Given the description of an element on the screen output the (x, y) to click on. 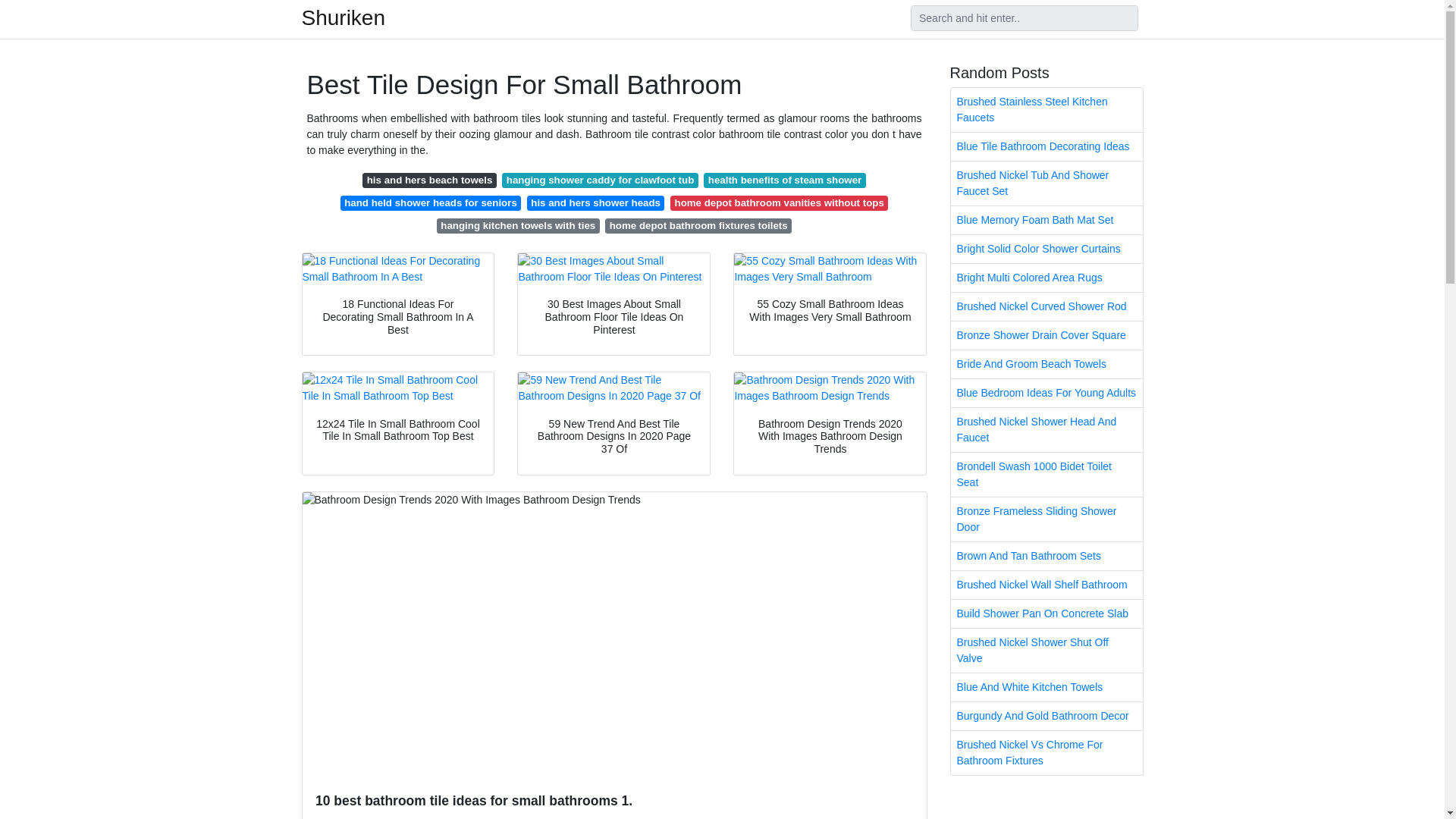
Brushed Nickel Tub And Shower Faucet Set (1046, 183)
Blue Tile Bathroom Decorating Ideas (1046, 146)
Bright Solid Color Shower Curtains (1046, 248)
hand held shower heads for seniors (430, 202)
his and hers beach towels (429, 180)
home depot bathroom vanities without tops (778, 202)
home depot bathroom fixtures toilets (698, 225)
Brushed Nickel Curved Shower Rod (1046, 306)
Shuriken (343, 18)
Blue Memory Foam Bath Mat Set (1046, 220)
Bronze Shower Drain Cover Square (1046, 335)
Bride And Groom Beach Towels (1046, 364)
hanging kitchen towels with ties (517, 225)
Brushed Stainless Steel Kitchen Faucets (1046, 109)
Shuriken (343, 18)
